Given the description of an element on the screen output the (x, y) to click on. 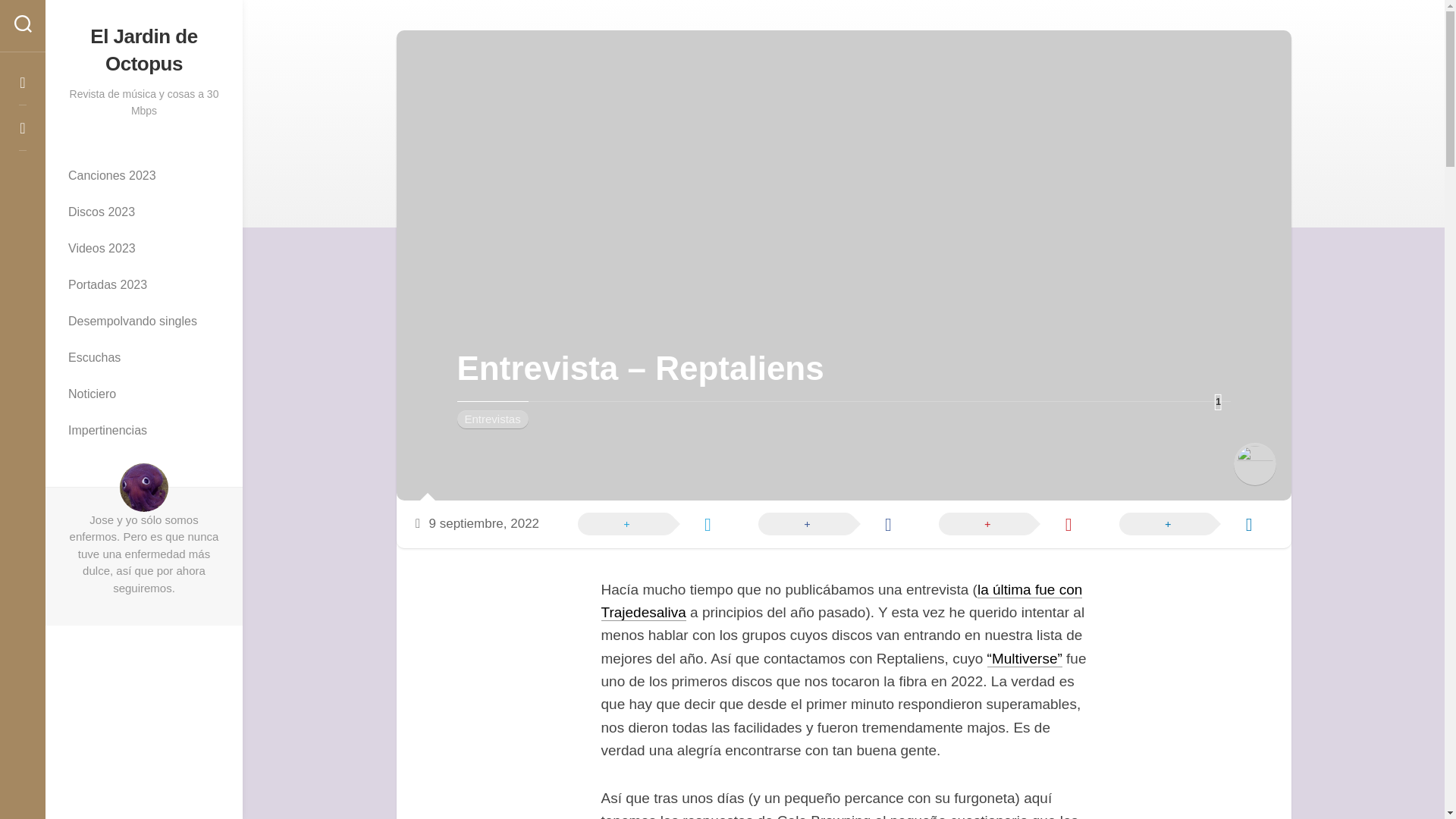
Discos 2023 (143, 212)
Desempolvando singles (143, 321)
1 (1217, 401)
Videos 2023 (143, 248)
Mail (22, 127)
Noticiero (143, 394)
Share on X (644, 522)
El Jardin de Octopus (143, 49)
Entrevistas (492, 418)
Portadas 2023 (143, 284)
